Given the description of an element on the screen output the (x, y) to click on. 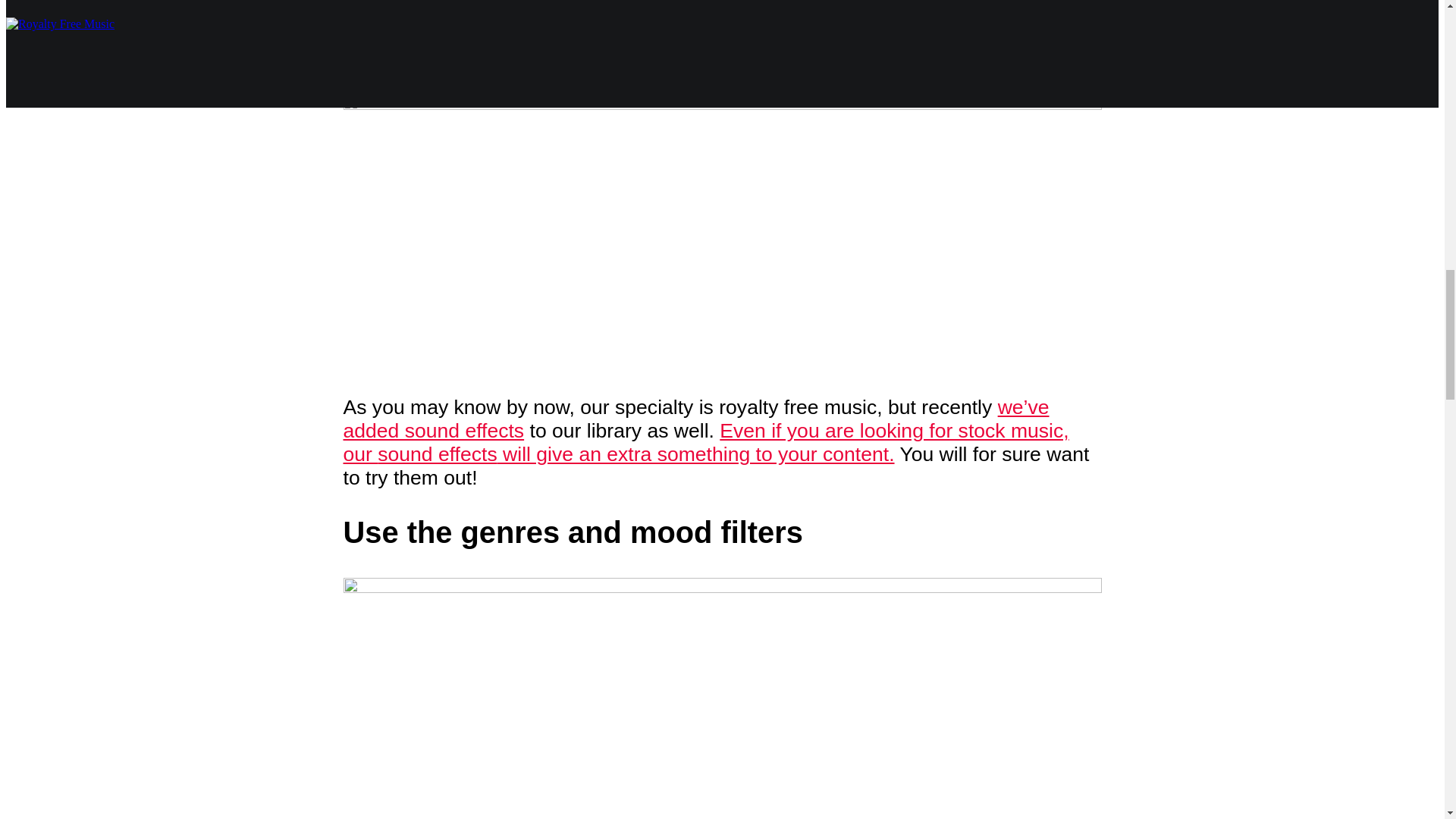
Even if you are looking for stock music, our (705, 442)
sound effects (436, 454)
will give an extra something to your content. (696, 454)
